Given the description of an element on the screen output the (x, y) to click on. 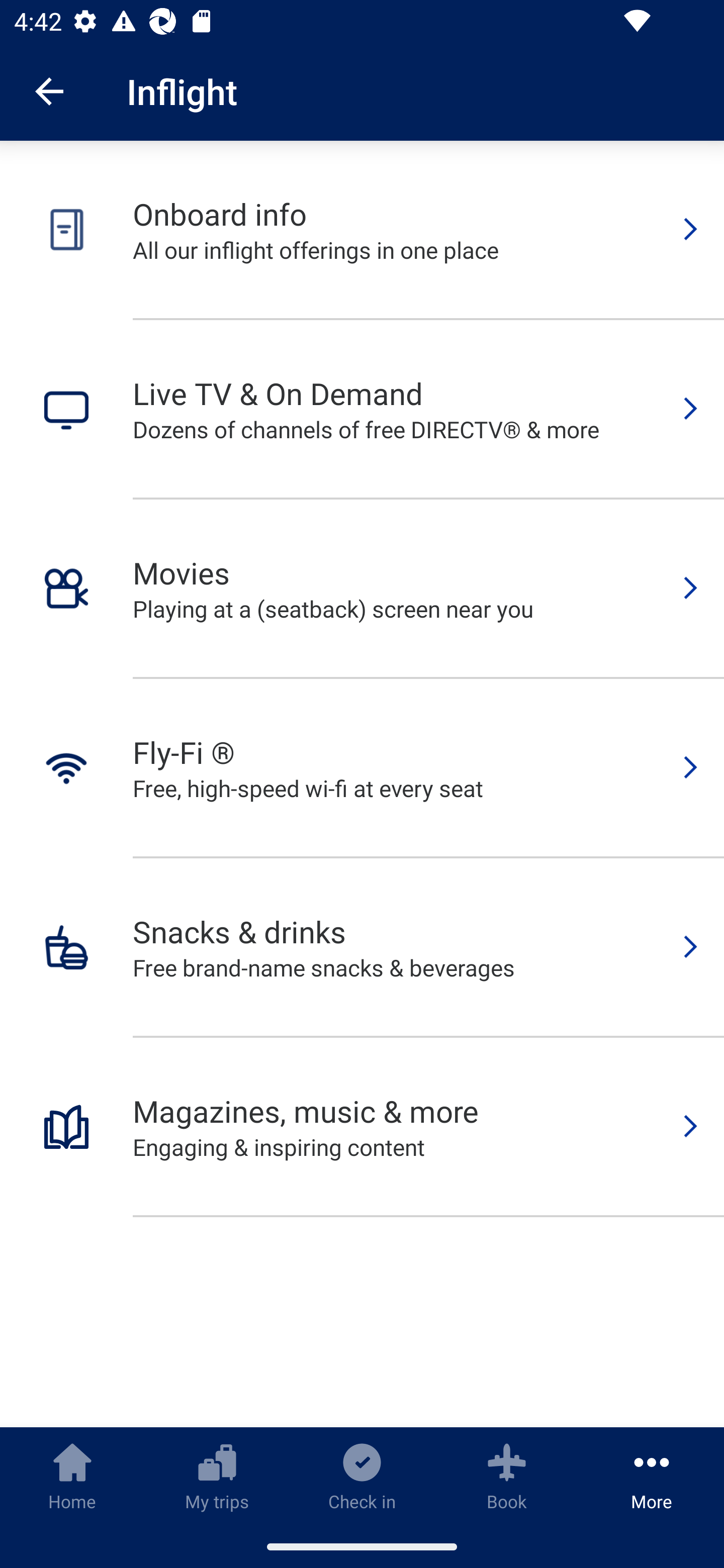
Navigate up (49, 91)
Movies Playing at a (seatback) screen near you (362, 589)
Fly-Fi ® Free, high-speed wi-fi at every seat (362, 767)
Snacks & drinks Free brand-name snacks & beverages (362, 947)
Home (72, 1475)
My trips (216, 1475)
Check in (361, 1475)
Book (506, 1475)
